Given the description of an element on the screen output the (x, y) to click on. 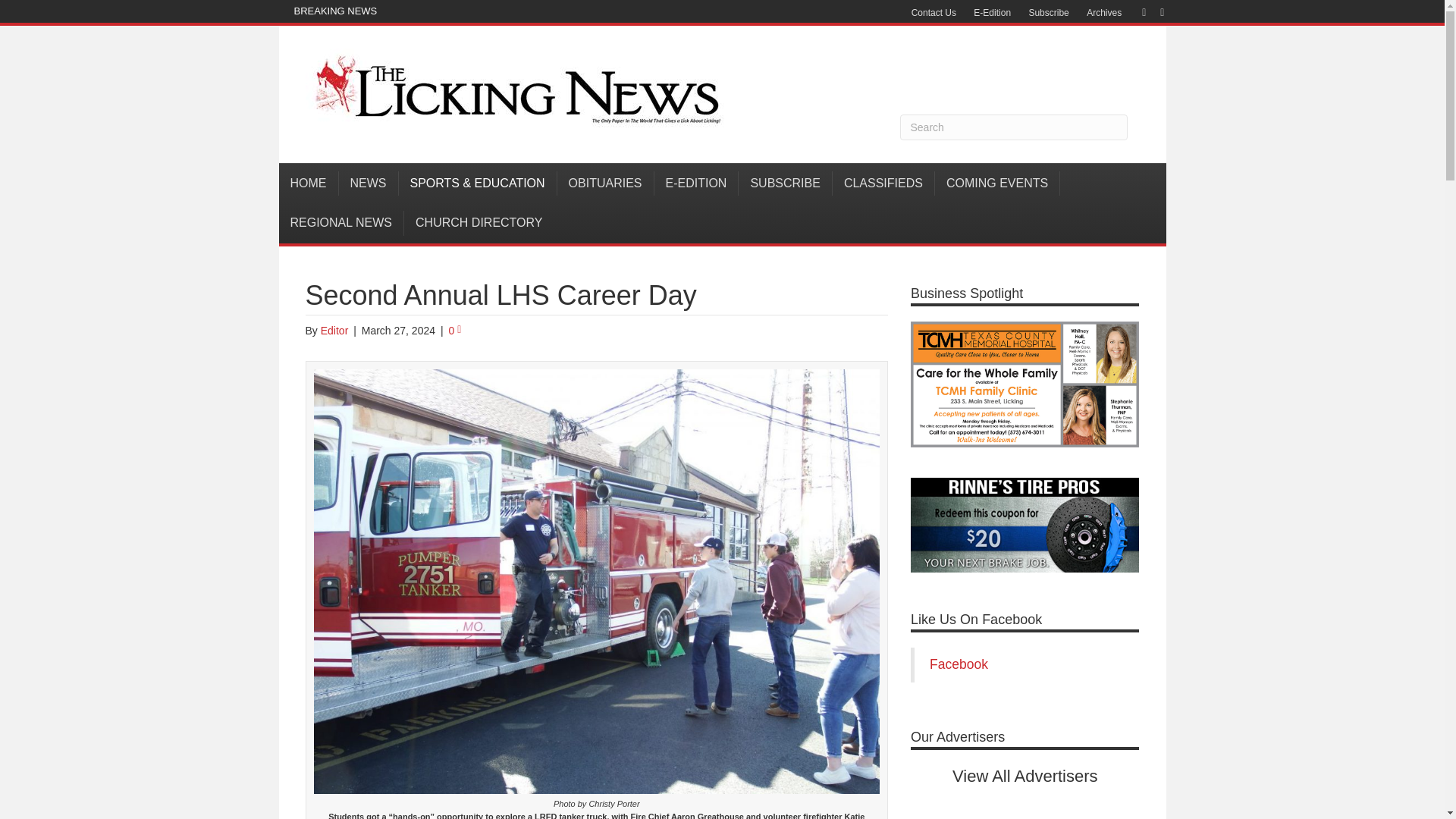
Editor (334, 330)
OBITUARIES (605, 183)
NEWS (367, 183)
0 (454, 330)
COMING EVENTS (996, 183)
Archives (1103, 13)
Facebook (1135, 11)
CHURCH DIRECTORY (478, 222)
SUBSCRIBE (784, 183)
REGIONAL NEWS (341, 222)
Type and press Enter to search. (1012, 127)
E-EDITION (696, 183)
Subscribe (1047, 13)
CLASSIFIEDS (883, 183)
Contact Us (933, 13)
